Given the description of an element on the screen output the (x, y) to click on. 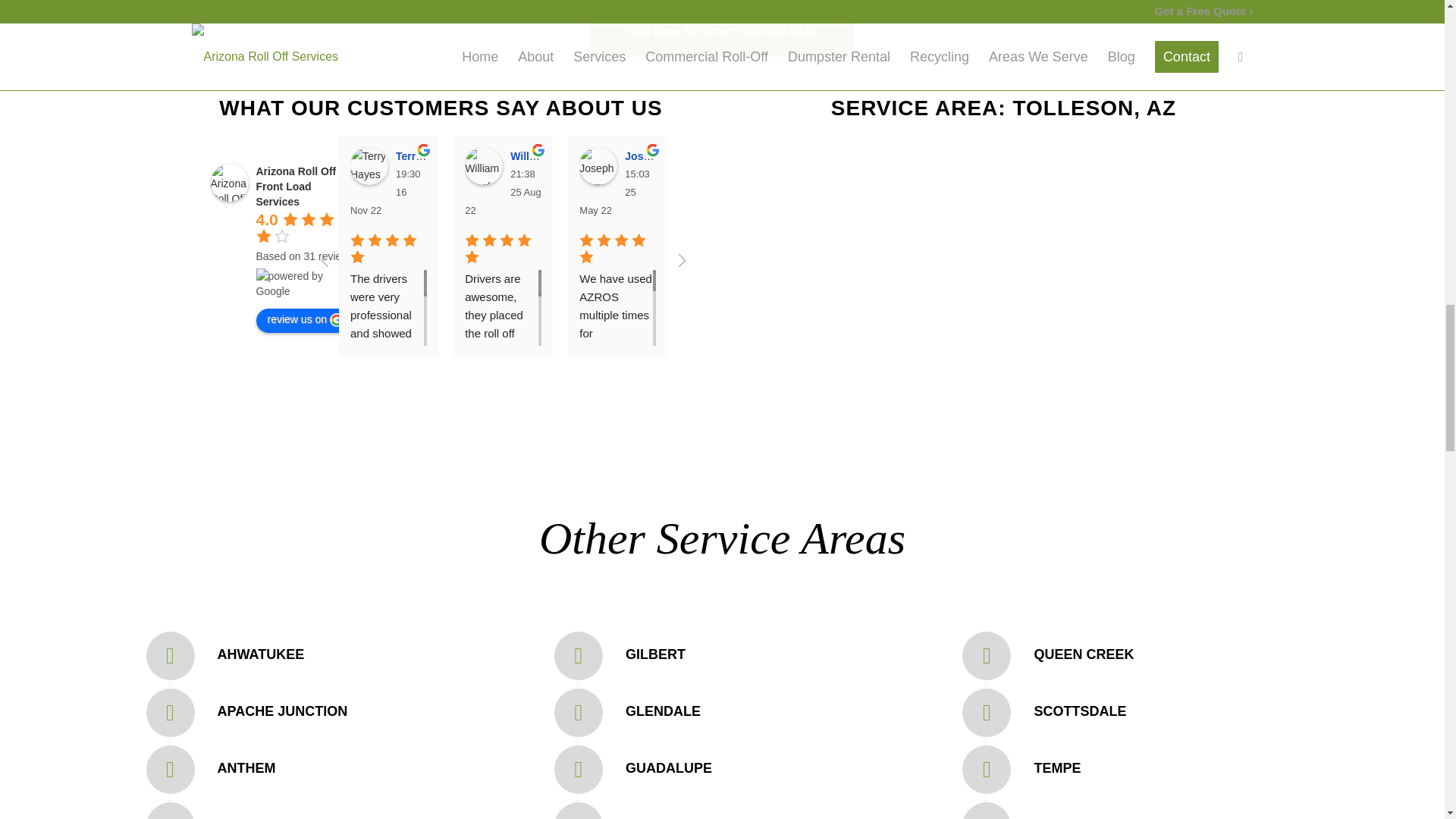
AVONDALE (254, 818)
Anthem (245, 767)
APACHE JUNCTION (281, 711)
Terry Hayes (428, 155)
Call Now To Order: 480-660-0533 (722, 30)
William Lloyd (547, 155)
Terry Hayes (369, 166)
GILBERT (655, 654)
Joseph Perrotti (598, 166)
Avondale (254, 818)
William Lloyd (483, 166)
D'angelo Mendoza (713, 166)
AHWATUKEE (260, 654)
review us on (305, 320)
Joseph Perrotti (665, 155)
